Given the description of an element on the screen output the (x, y) to click on. 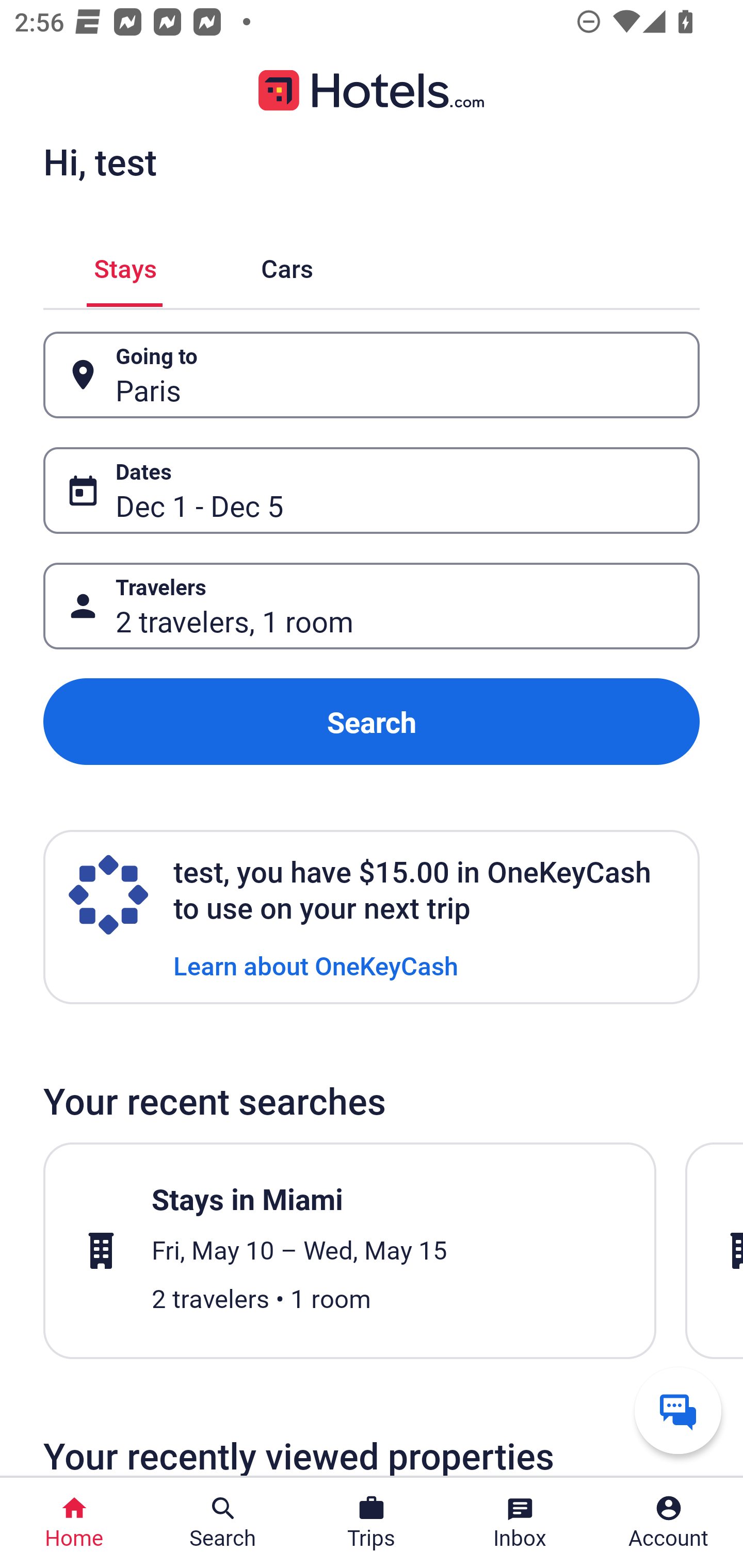
Hi, test (99, 161)
Cars (286, 265)
Going to Button Paris (371, 375)
Dates Button Dec 1 - Dec 5 (371, 489)
Travelers Button 2 travelers, 1 room (371, 605)
Search (371, 721)
Learn about OneKeyCash Learn about OneKeyCash Link (315, 964)
Get help from a virtual agent (677, 1410)
Search Search Button (222, 1522)
Trips Trips Button (371, 1522)
Inbox Inbox Button (519, 1522)
Account Profile. Button (668, 1522)
